Given the description of an element on the screen output the (x, y) to click on. 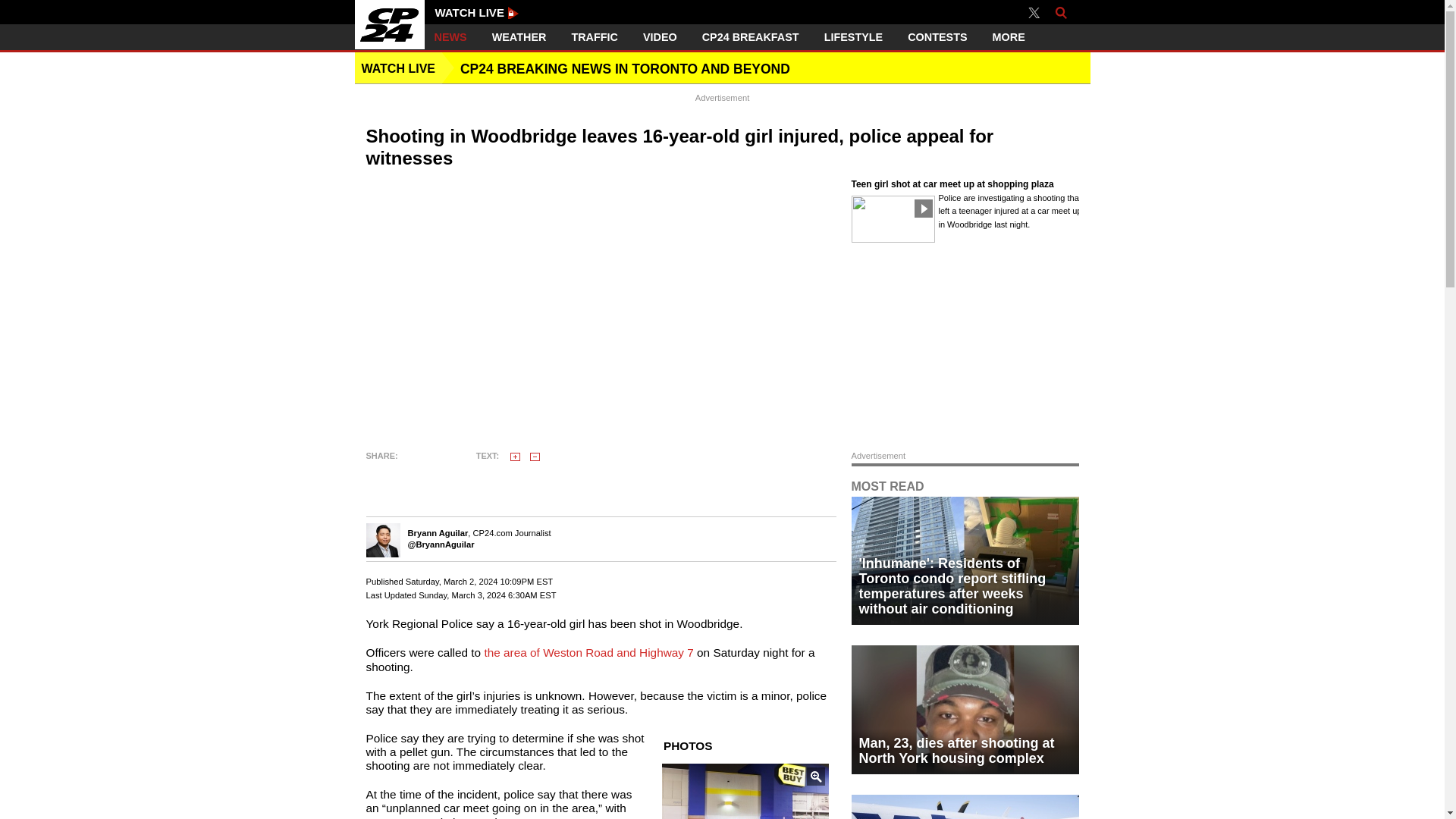
Search (1060, 11)
Contests (936, 37)
CP24.com (390, 24)
Weather (519, 37)
CONTESTS (936, 37)
WATCH LIVE (477, 11)
WEATHER (519, 37)
